Given the description of an element on the screen output the (x, y) to click on. 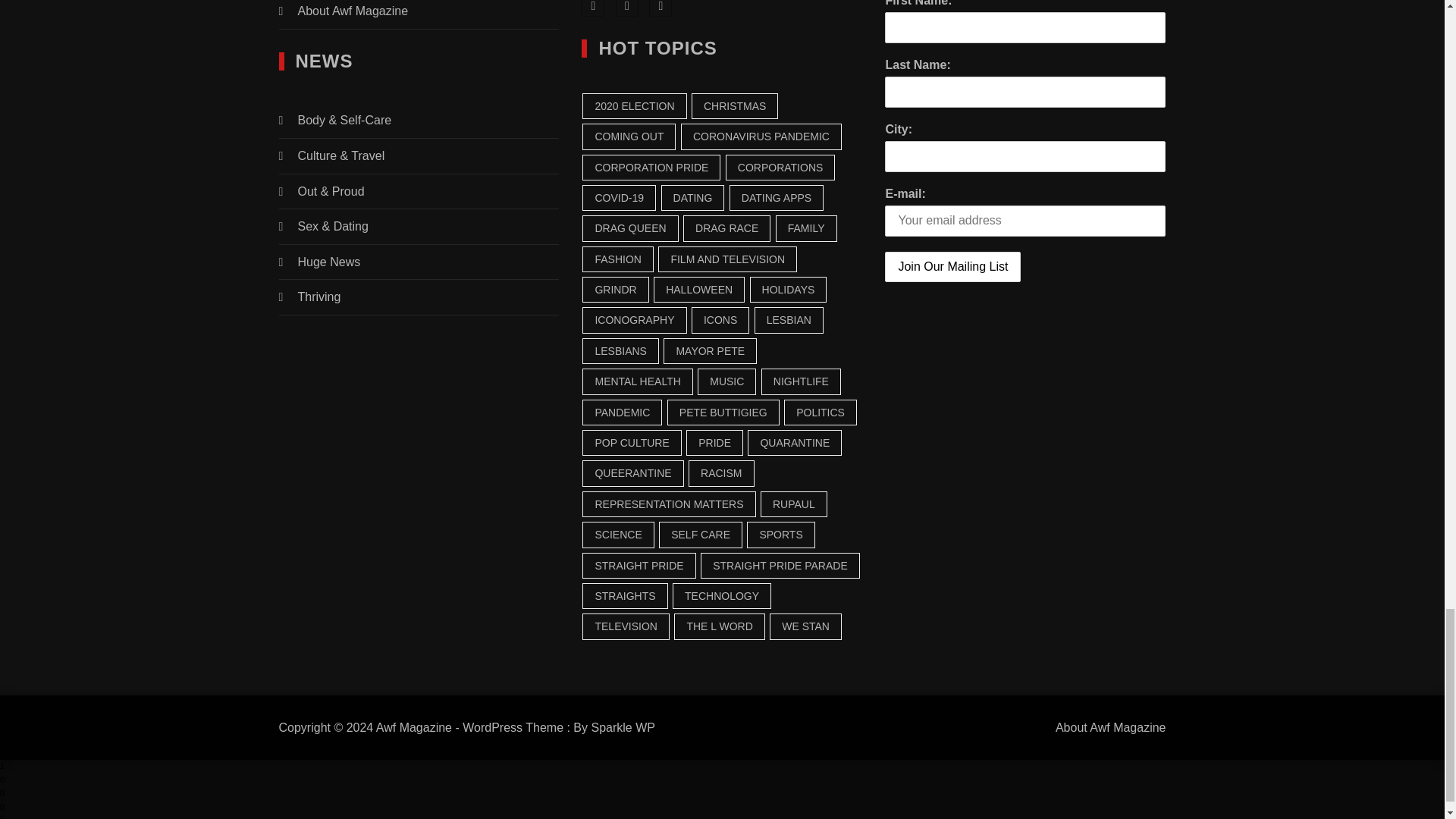
Join Our Mailing List (952, 266)
